Given the description of an element on the screen output the (x, y) to click on. 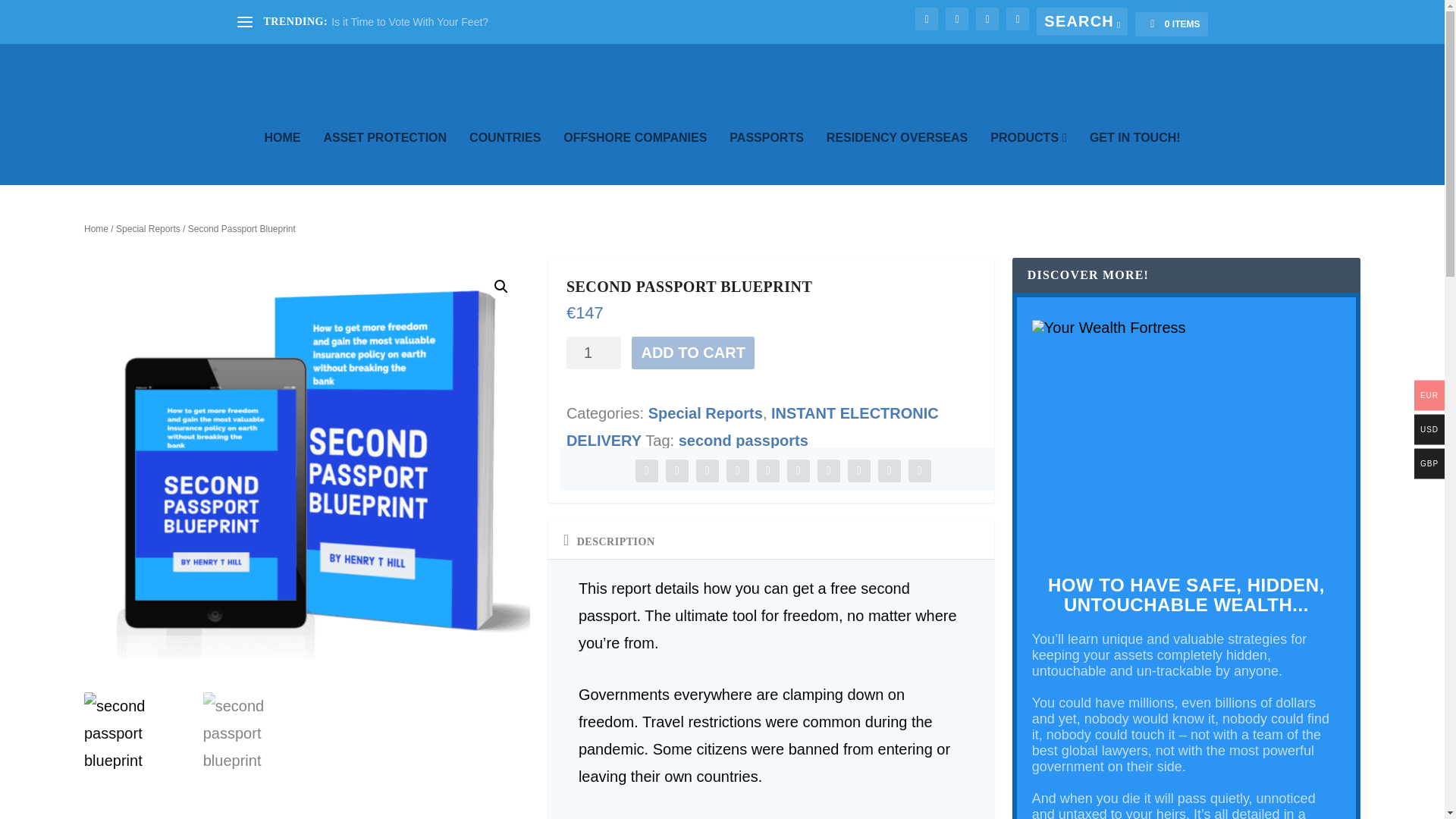
0 Items in Cart (1171, 24)
1 (593, 352)
Search for: (1081, 21)
Is it Time to Vote With Your Feet? (409, 21)
